Given the description of an element on the screen output the (x, y) to click on. 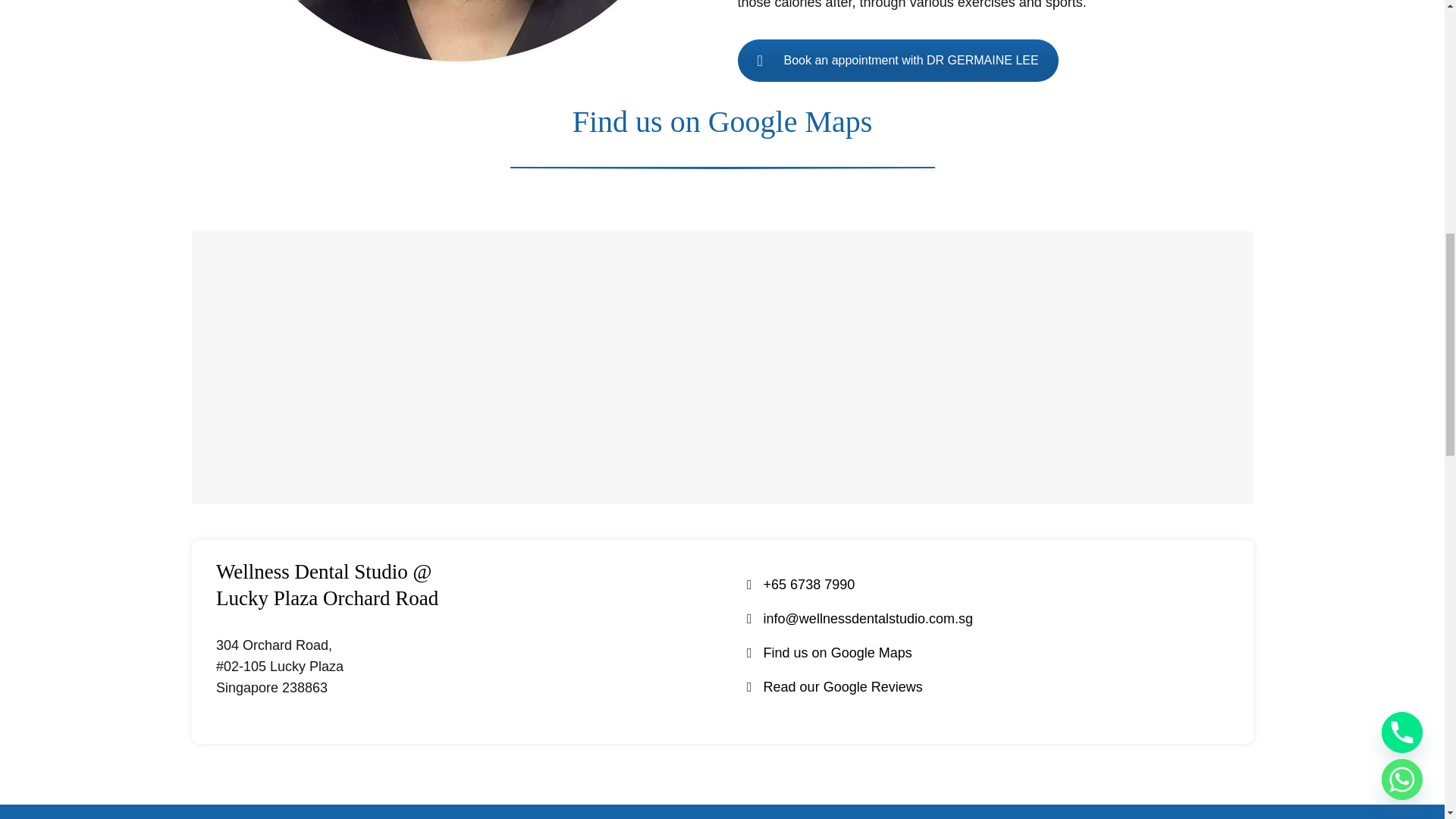
Dr Germaine Lee (456, 30)
